Given the description of an element on the screen output the (x, y) to click on. 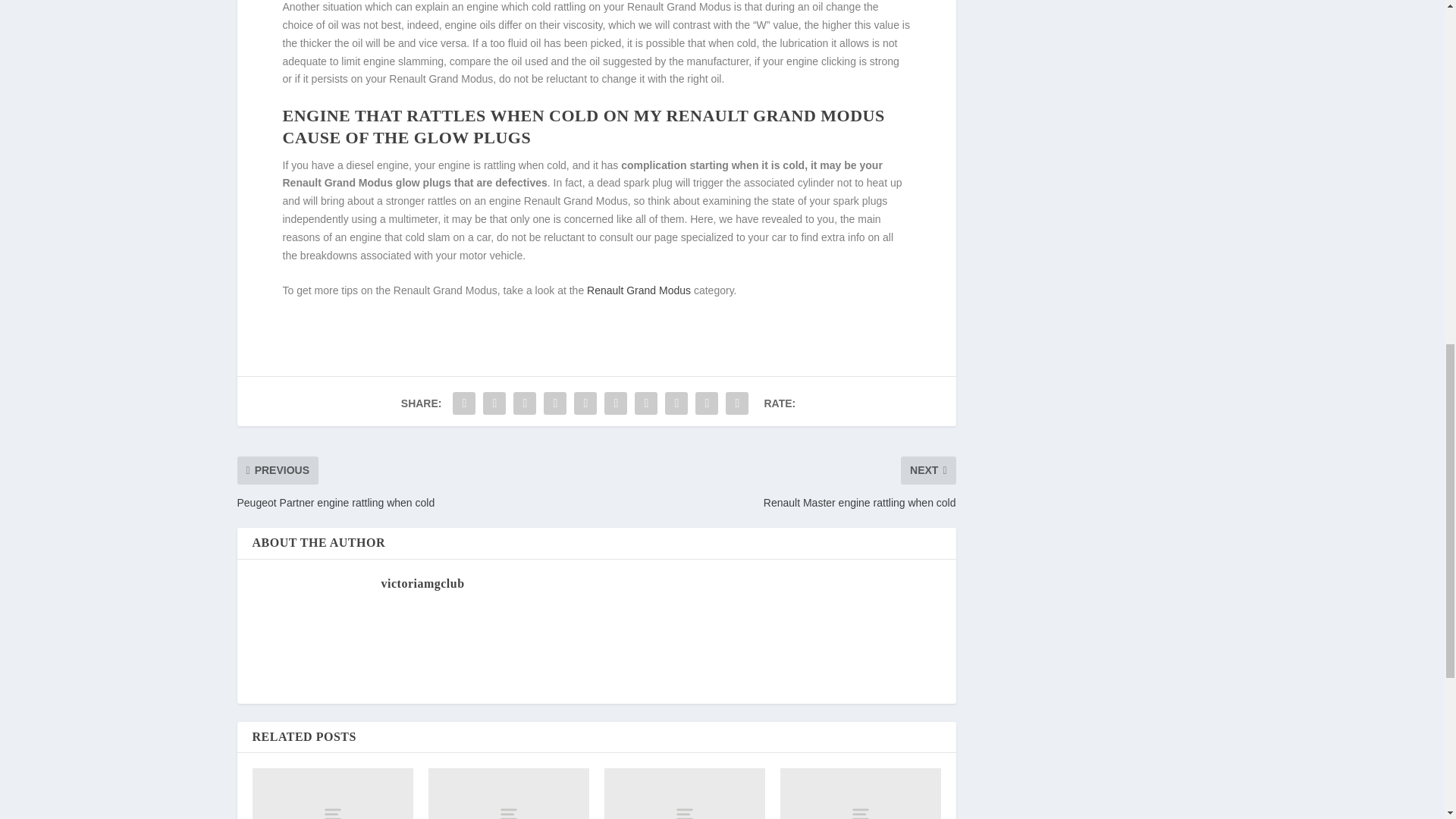
victoriamgclub (422, 583)
Renault Grand Modus (638, 290)
